Given the description of an element on the screen output the (x, y) to click on. 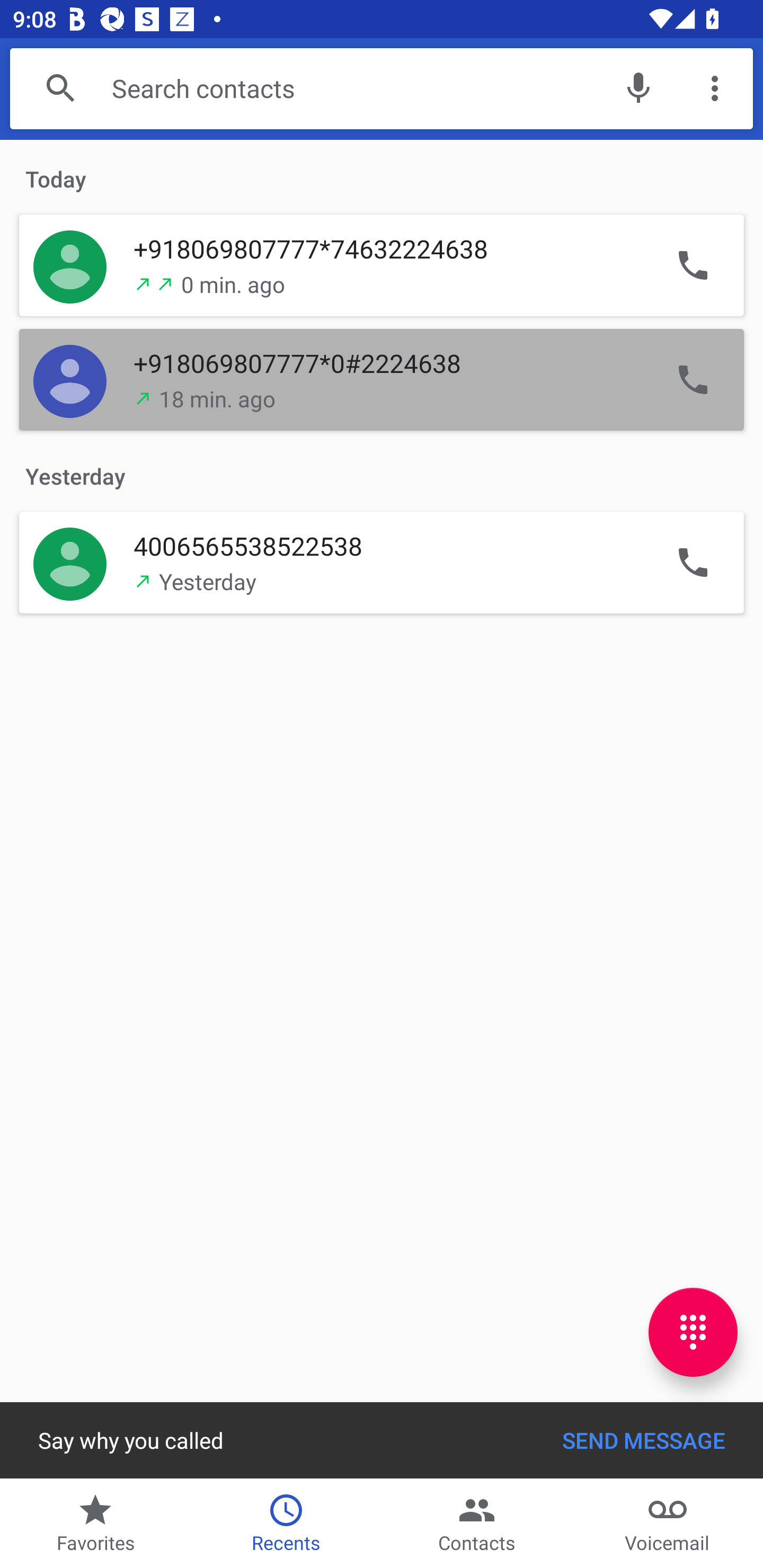
Search contacts Start voice search More options (381, 88)
Start voice search (638, 88)
More options (714, 88)
Quick contact for +918069807777*74632224638 (70, 265)
Call +918069807777*74632224638 (692, 265)
Quick contact for +918069807777*0#2224638 (70, 379)
Call +918069807777*0#2224638 (692, 379)
Quick contact for 4006565538522538 (70, 561)
Call 4006565538522538 (692, 561)
key pad (692, 1331)
Say why you called SEND MESSAGE (381, 1439)
SEND MESSAGE (642, 1439)
Favorites (95, 1523)
Recents (285, 1523)
Contacts (476, 1523)
Voicemail (667, 1523)
